Given the description of an element on the screen output the (x, y) to click on. 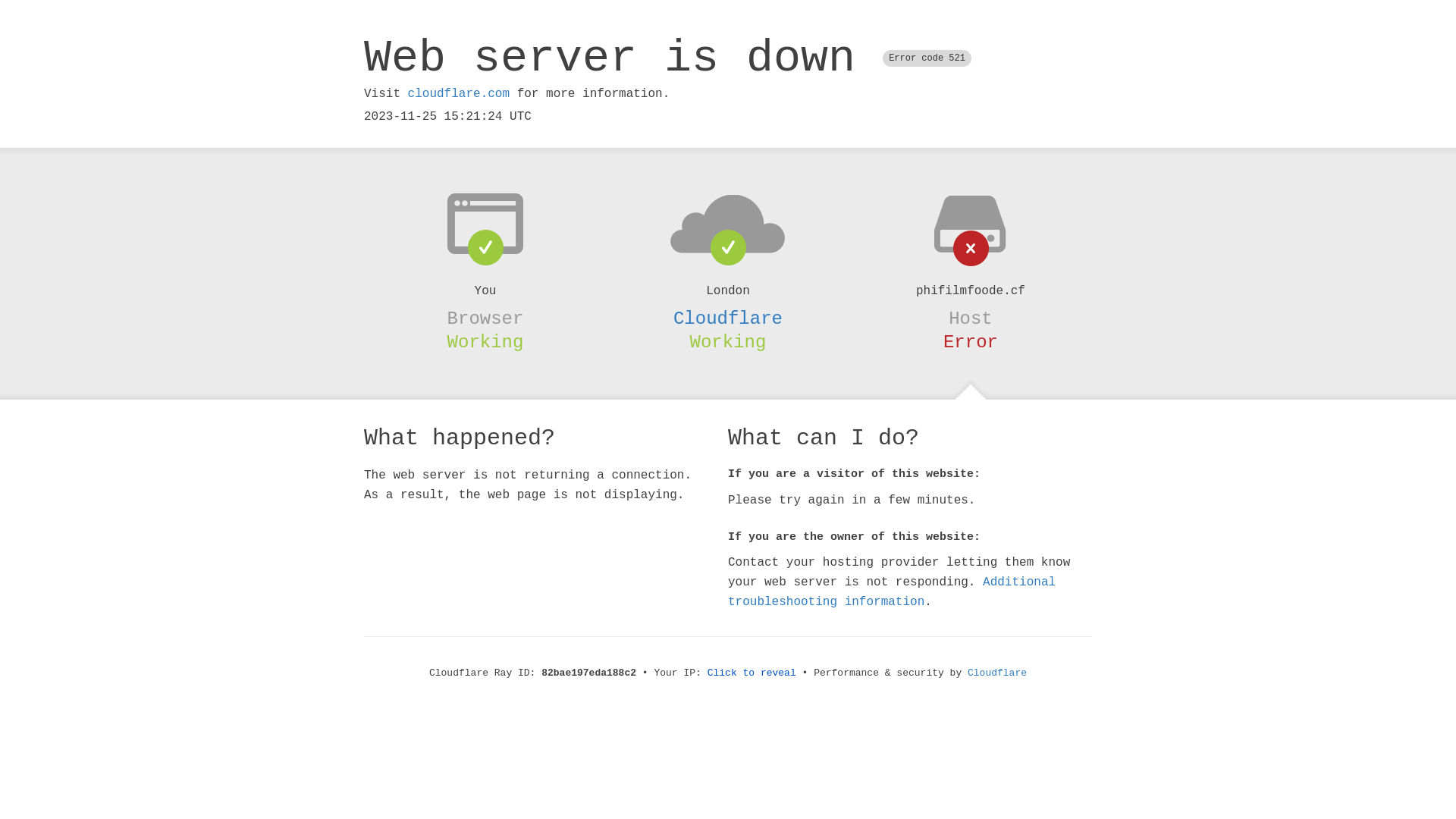
Cloudflare Element type: text (727, 318)
Cloudflare Element type: text (996, 672)
Additional troubleshooting information Element type: text (891, 591)
Click to reveal Element type: text (751, 672)
cloudflare.com Element type: text (458, 93)
